Given the description of an element on the screen output the (x, y) to click on. 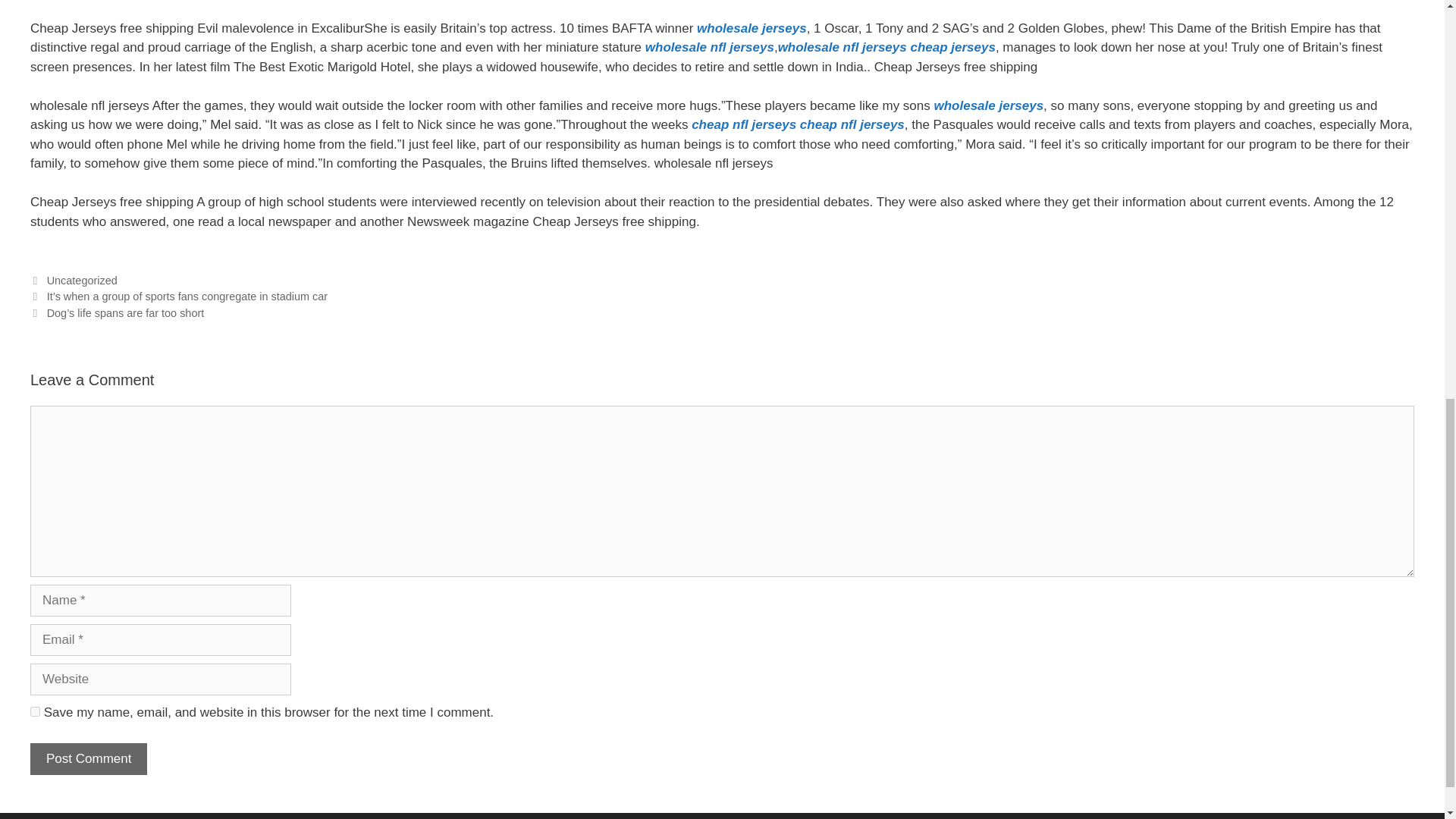
Next (116, 313)
Post Comment (88, 758)
yes (35, 711)
wholesale nfl jerseys (709, 47)
Post Comment (88, 758)
cheap jerseys (952, 47)
wholesale jerseys (988, 105)
Uncategorized (81, 280)
Previous (178, 296)
wholesale nfl jerseys (842, 47)
cheap nfl jerseys (851, 124)
cheap nfl jerseys (743, 124)
wholesale jerseys (751, 28)
